Given the description of an element on the screen output the (x, y) to click on. 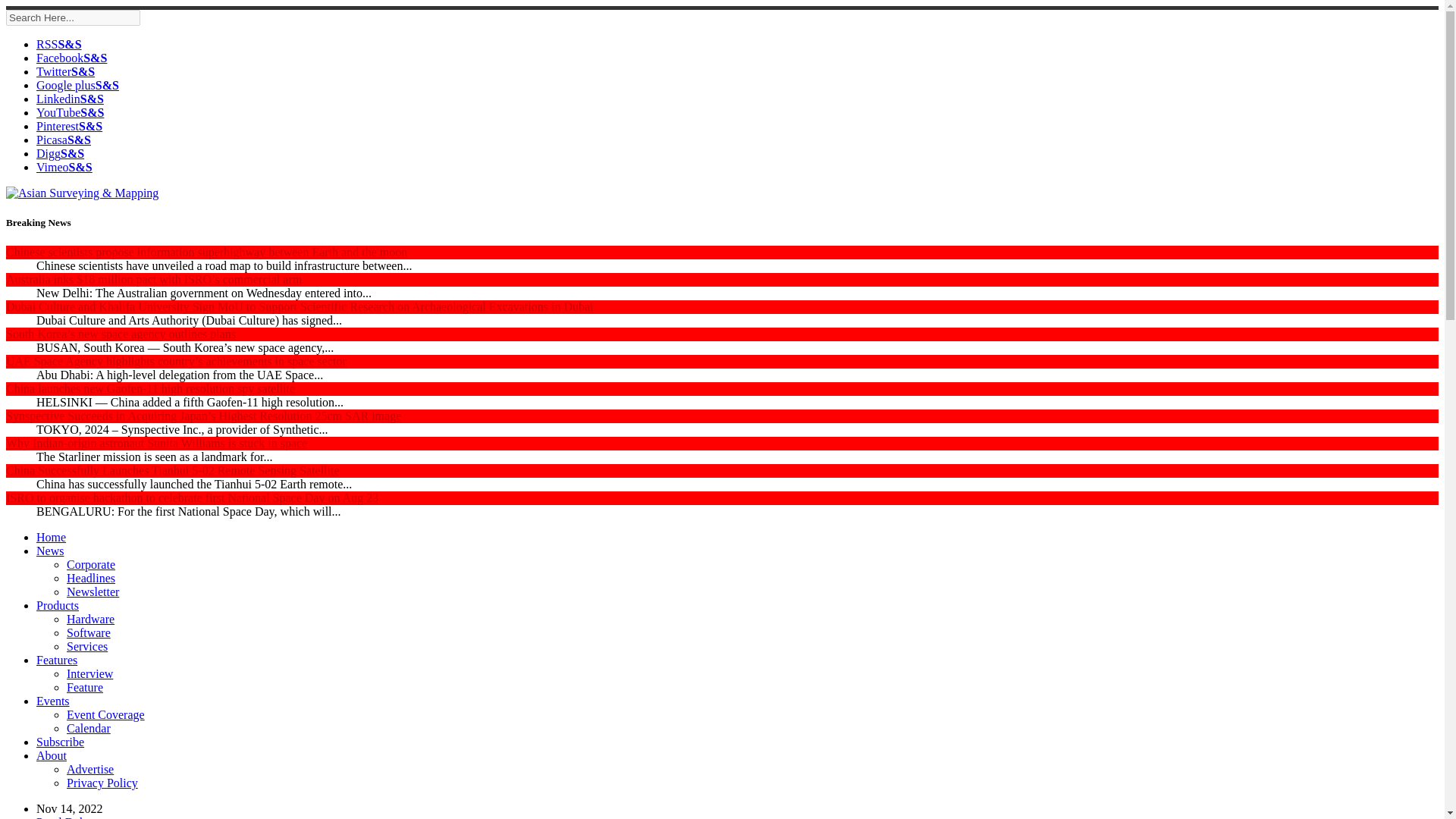
Corporate (90, 563)
China launches new Gaofen-11 high resolution spy satellite (150, 388)
Linkedin (69, 98)
Informed Infrastructure (60, 153)
Products (57, 604)
Hardware (90, 618)
Privacy Policy (102, 782)
Headlines (90, 577)
Facebook (71, 57)
Search Here... (72, 17)
Advertise (89, 768)
Feature (84, 686)
Events (52, 700)
GeoSpatial Stream (64, 166)
